Given the description of an element on the screen output the (x, y) to click on. 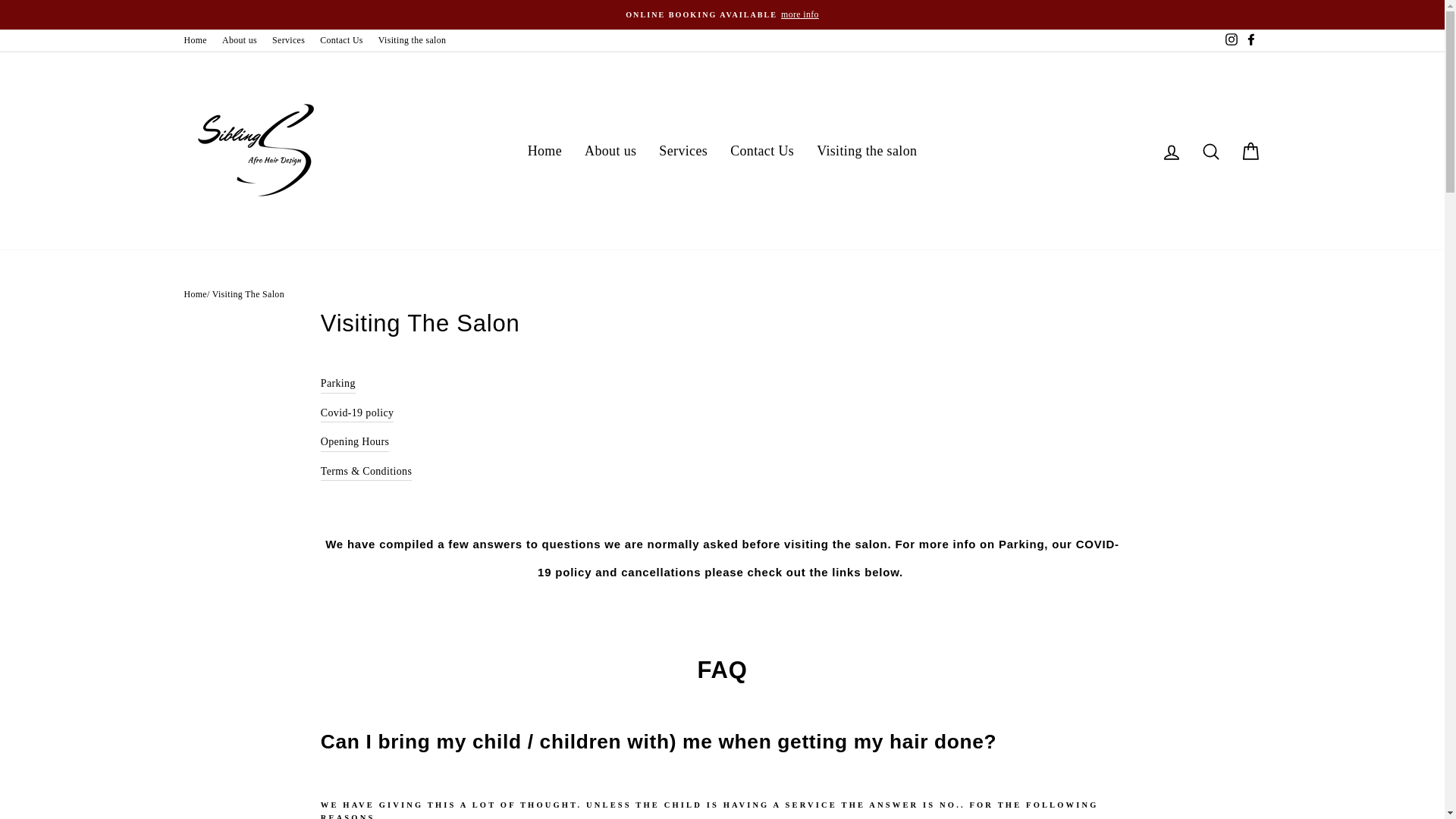
Siblings Afro Hair Design on Instagram (1230, 40)
Back to the frontpage (194, 294)
ONLINE BOOKING AVAILABLEmore info (722, 14)
Home (195, 40)
Siblings Afro Hair Design on Facebook (1250, 40)
